Given the description of an element on the screen output the (x, y) to click on. 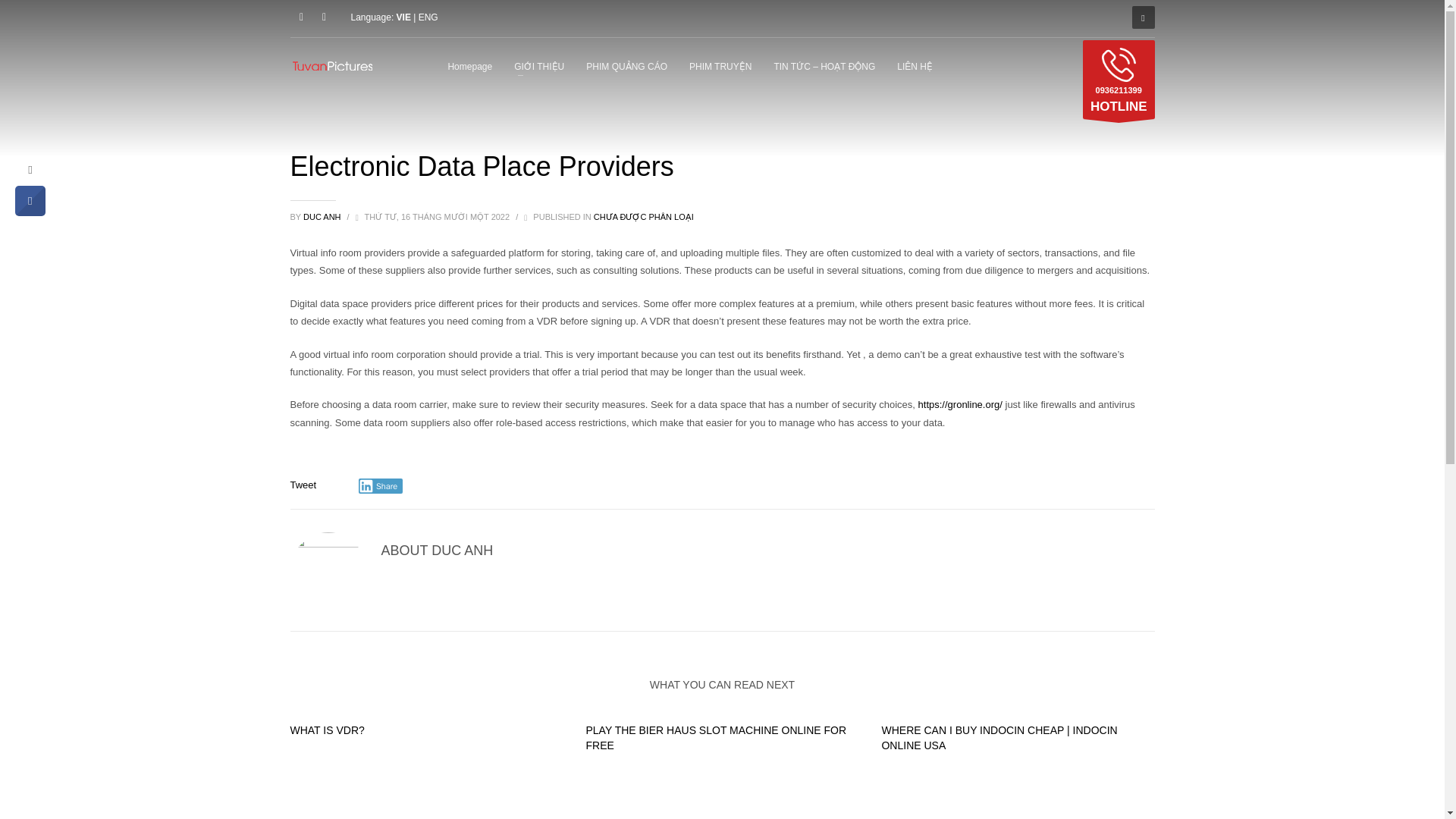
VIE (404, 17)
Share on Facebook (29, 211)
Share (380, 485)
Homepage (469, 66)
DUC ANH (1118, 79)
WHAT IS VDR? (322, 216)
Tweet (326, 729)
Youtube (302, 484)
Call us (323, 16)
